Given the description of an element on the screen output the (x, y) to click on. 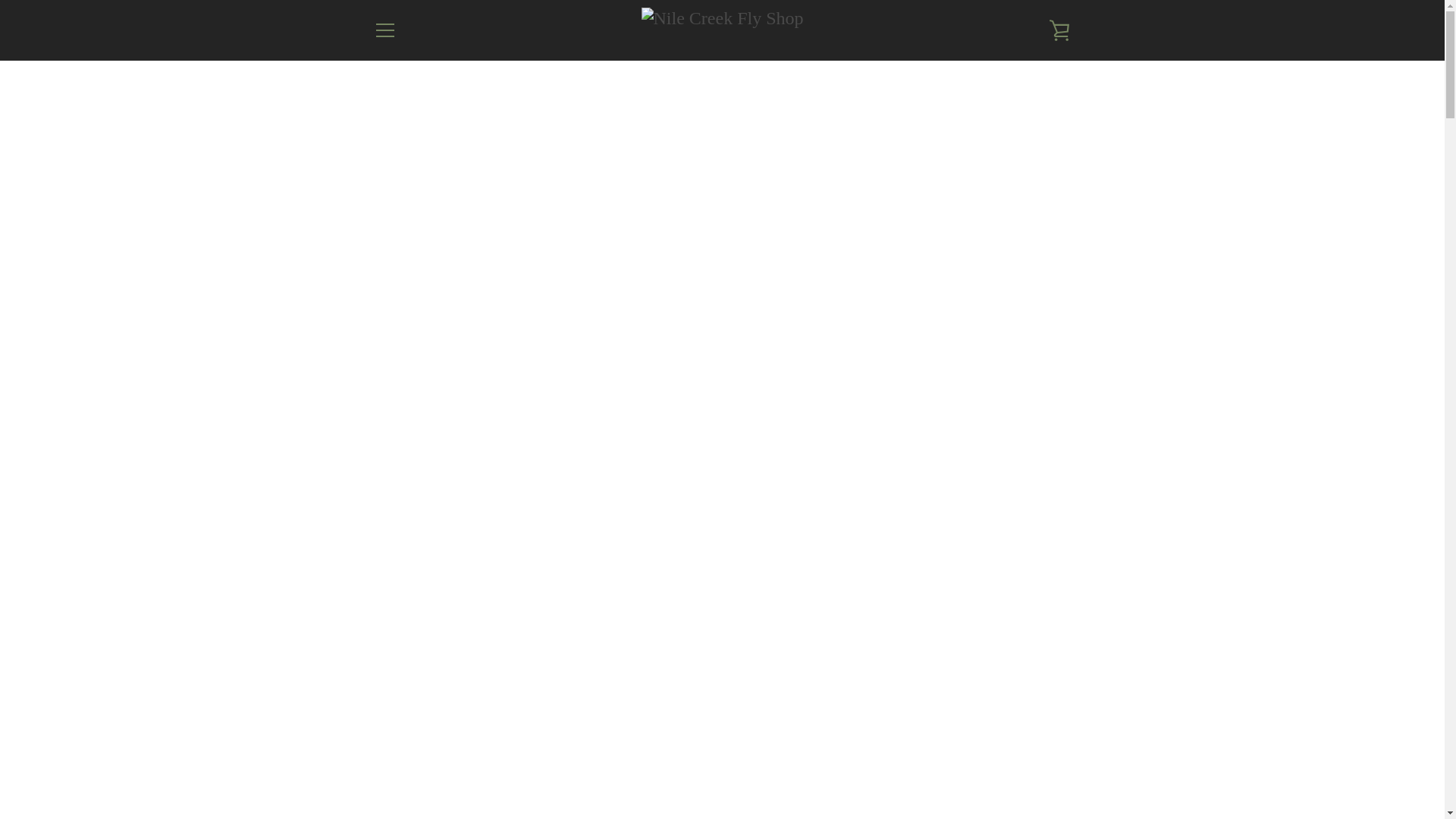
MENU (384, 30)
VIEW CART (1059, 30)
